Given the description of an element on the screen output the (x, y) to click on. 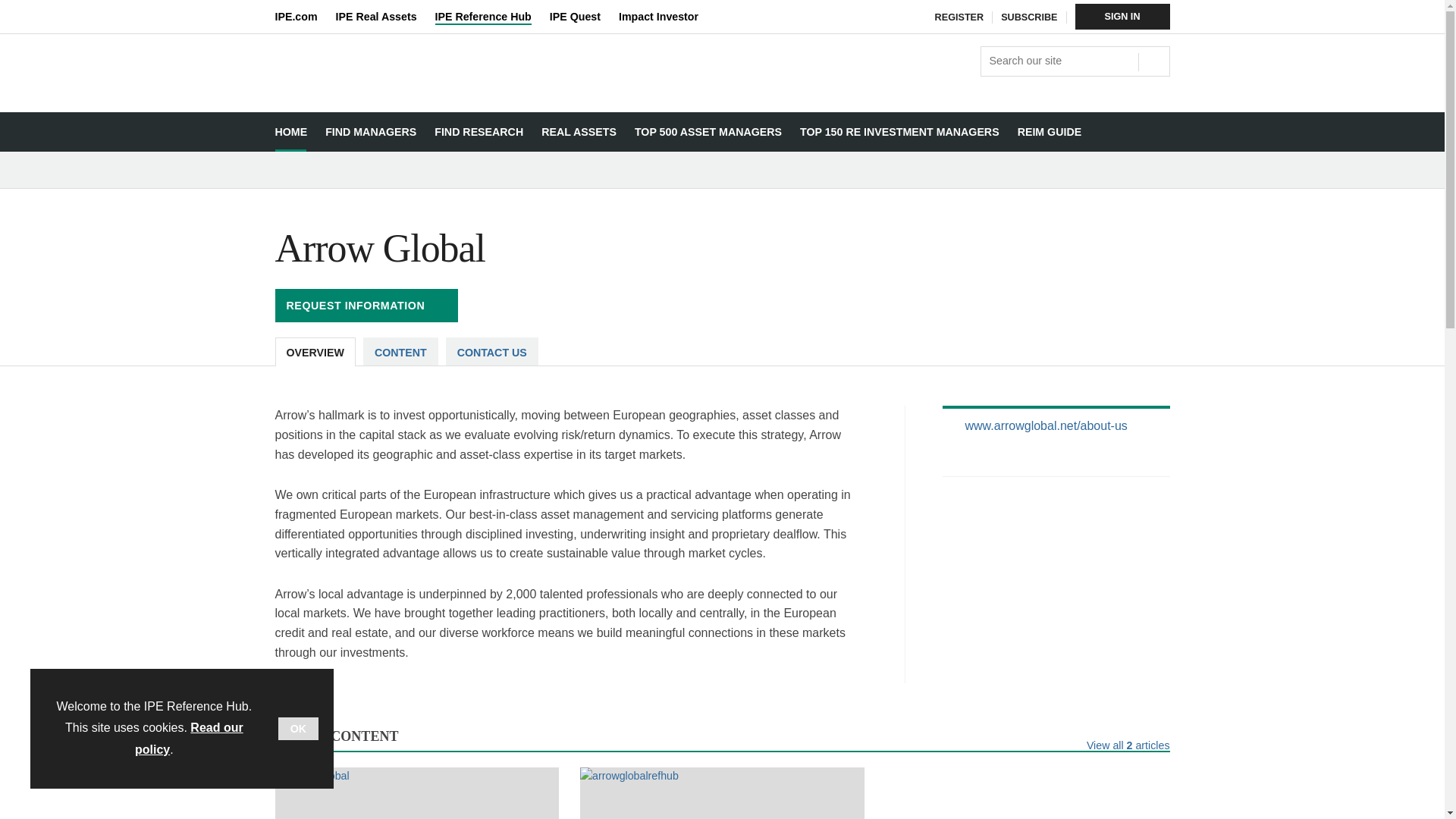
FIND RESEARCH (478, 132)
IPE Quest (583, 16)
SIGN IN (1122, 16)
Impact Investor (667, 16)
FIND MANAGERS (370, 132)
SEARCH (1152, 59)
IPE Quest (583, 16)
REAL ASSETS (579, 132)
Impact Investor (667, 16)
REQUEST INFORMATION (366, 305)
REIM GUIDE (1049, 132)
Read our policy (189, 738)
TOP 500 ASSET MANAGERS (708, 132)
Reference Hub (421, 98)
TOP 150 RE INVESTMENT MANAGERS (899, 132)
